Given the description of an element on the screen output the (x, y) to click on. 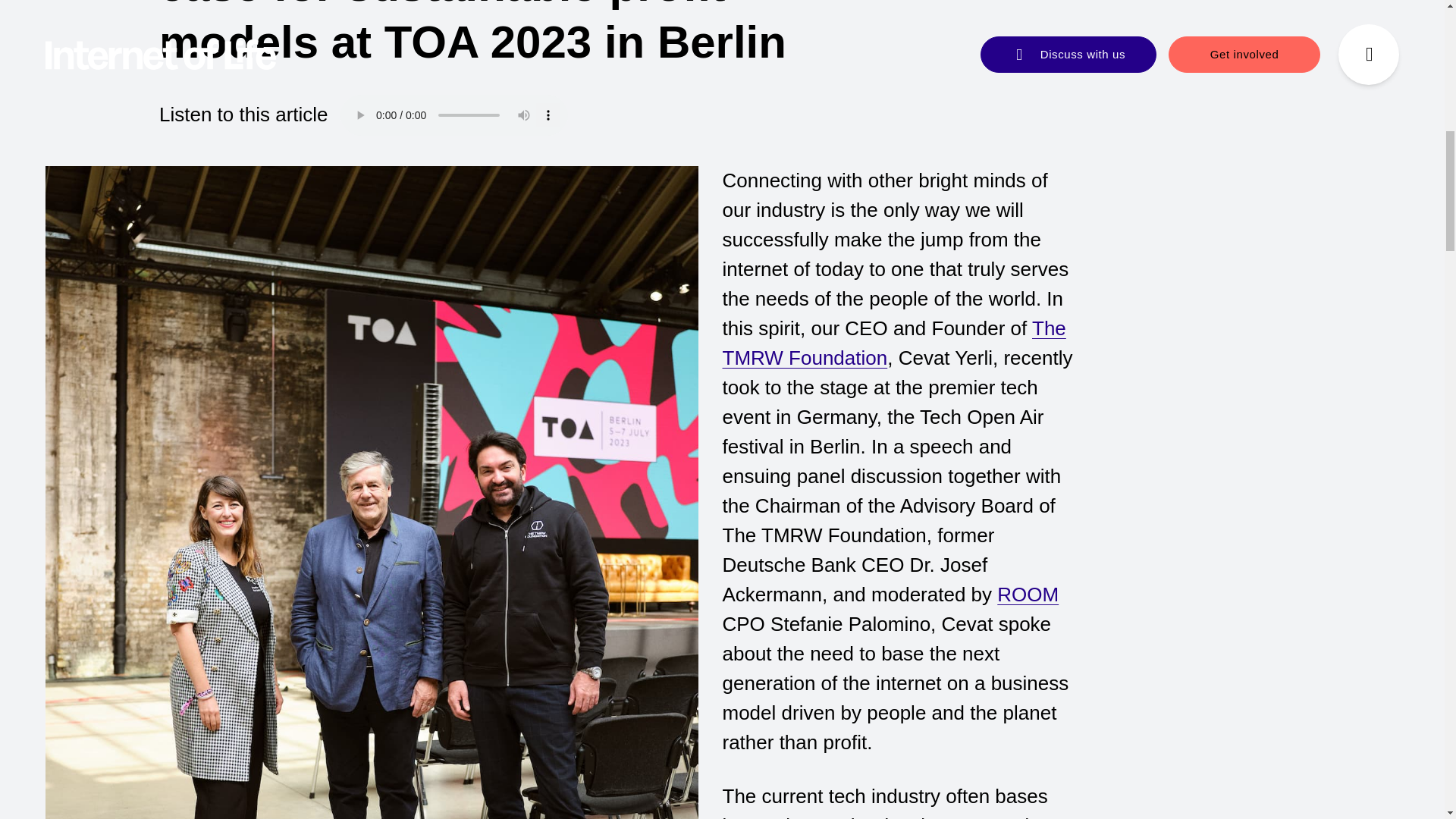
ROOM (1027, 594)
The TMRW Foundation (893, 342)
